Given the description of an element on the screen output the (x, y) to click on. 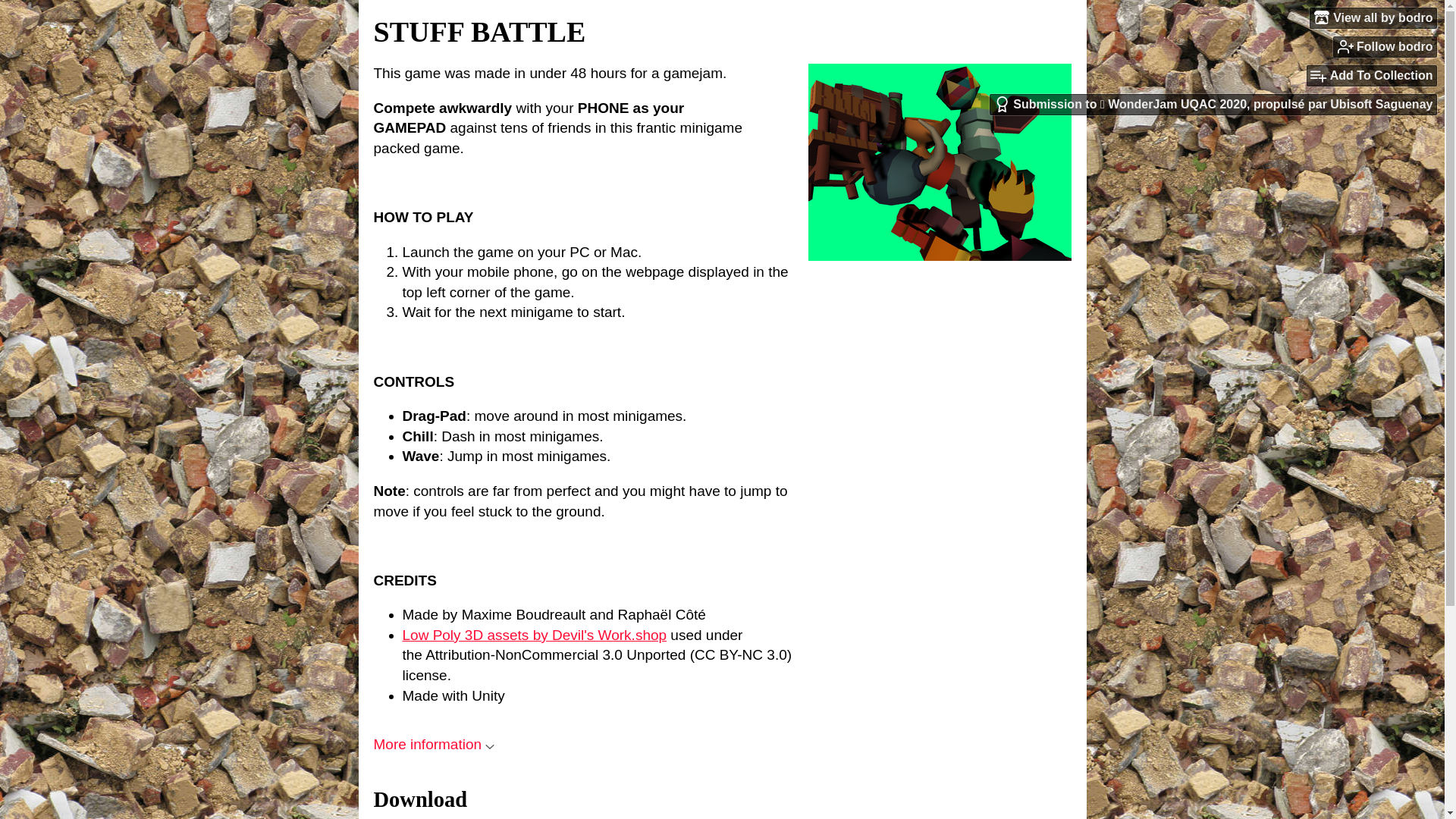
Low Poly 3D assets by Devil's Work.shop (533, 634)
More information (433, 744)
Follow bodro (1385, 46)
Add To Collection (1371, 75)
View all by bodro (1372, 17)
